Given the description of an element on the screen output the (x, y) to click on. 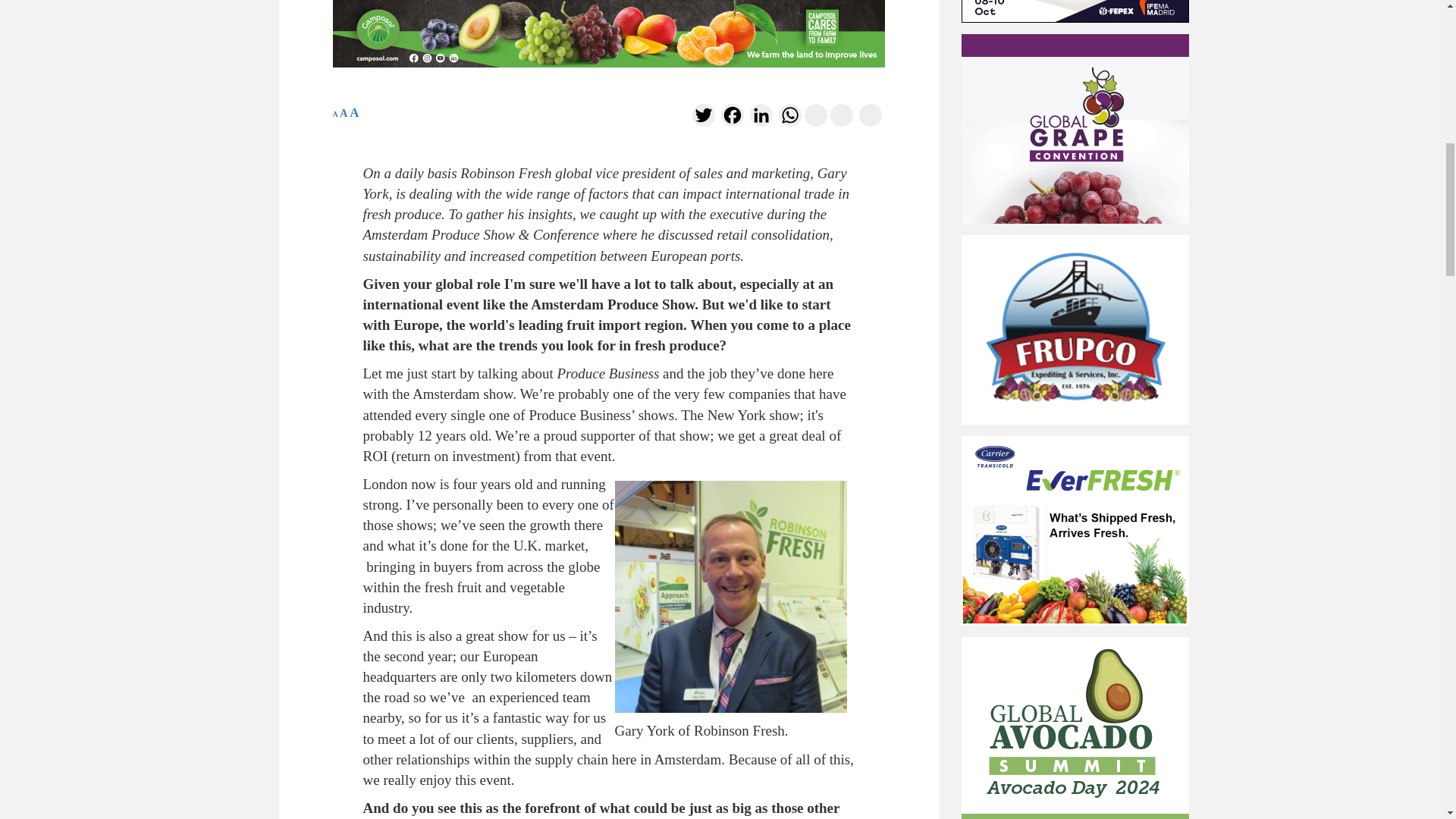
Reset font size (342, 112)
Decrease font size (334, 113)
Twitter (702, 118)
Increase font size (353, 112)
LinkedIn (759, 118)
Facebook (731, 118)
WhatsApp (788, 118)
